Given the description of an element on the screen output the (x, y) to click on. 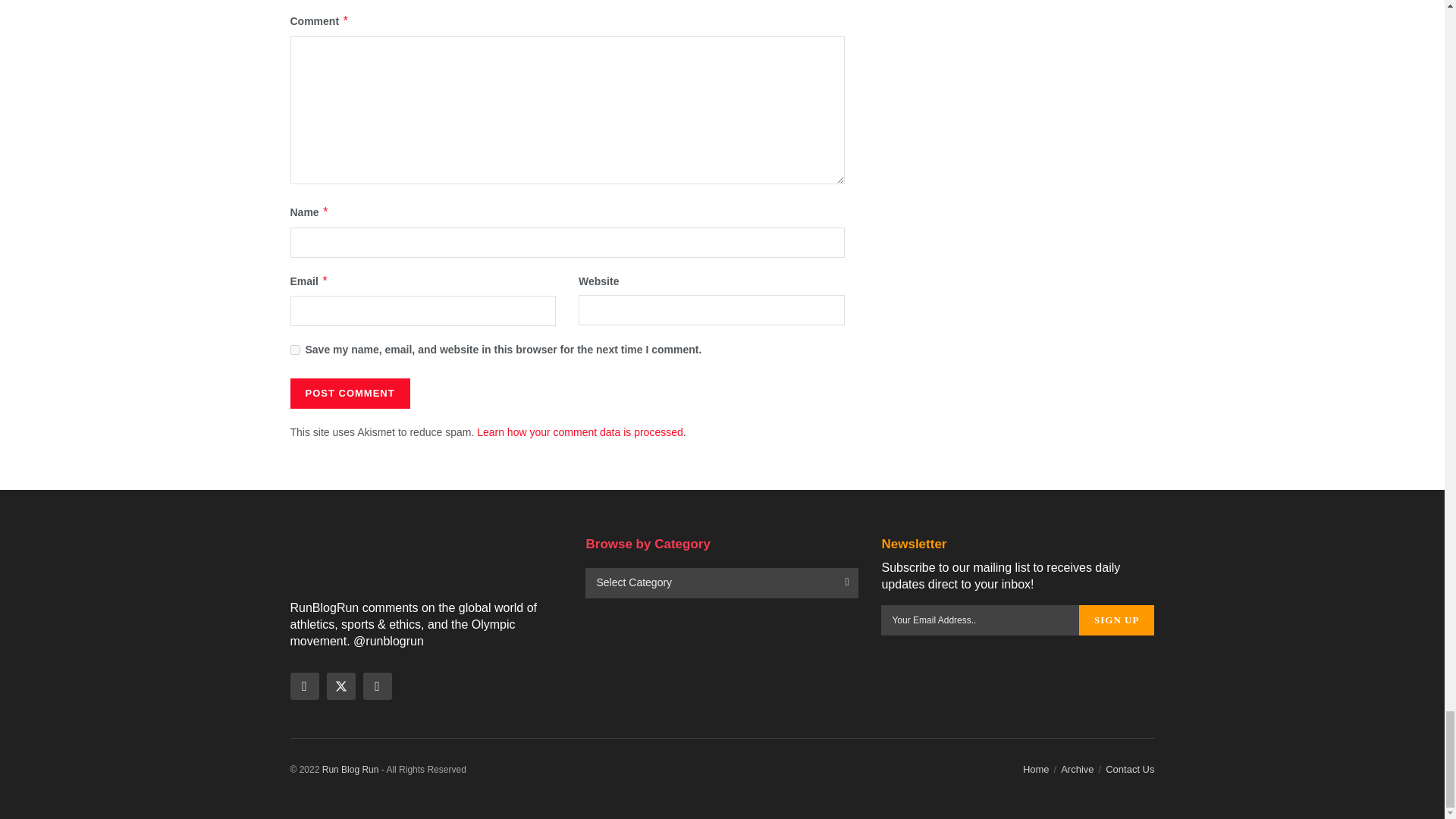
SIGN UP (1116, 620)
yes (294, 349)
Post Comment (349, 393)
Run Blog Run (349, 769)
